Given the description of an element on the screen output the (x, y) to click on. 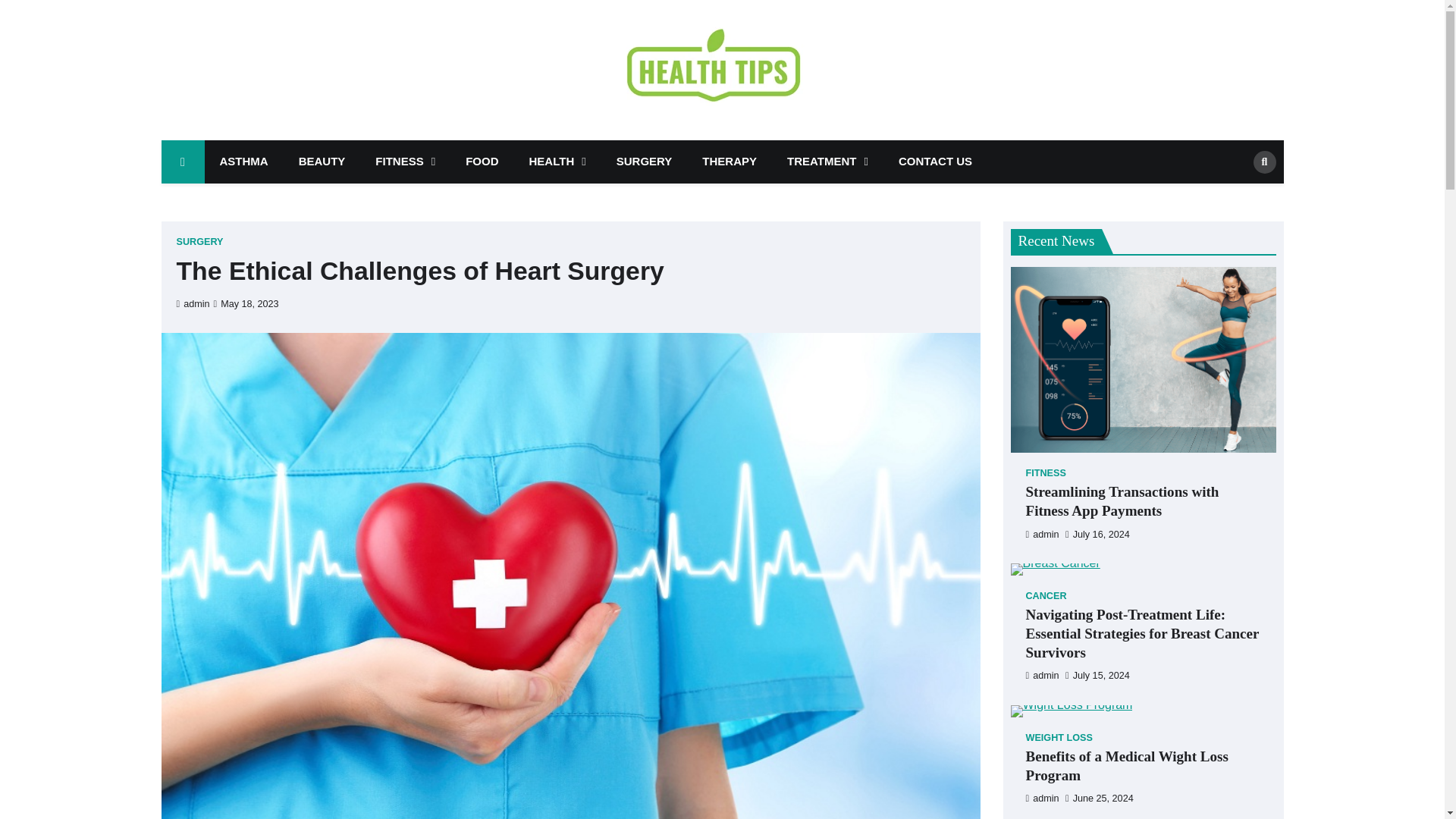
TREATMENT (827, 161)
FOOD (481, 161)
ASTHMA (244, 161)
HEALTH (557, 161)
Search (1238, 194)
SURGERY (199, 242)
THERAPY (729, 161)
admin (192, 303)
May 18, 2023 (246, 303)
FITNESS (404, 161)
SURGERY (644, 161)
CONTACT US (935, 161)
Search (1263, 160)
BEAUTY (322, 161)
